Given the description of an element on the screen output the (x, y) to click on. 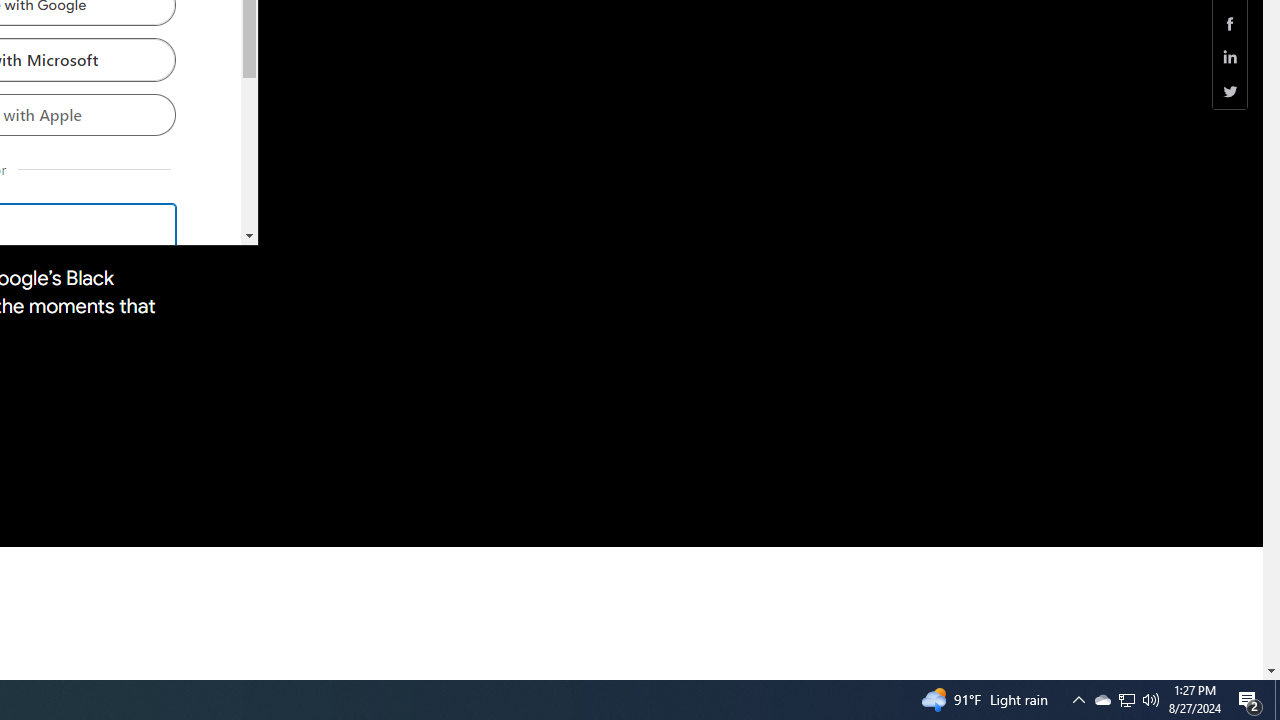
Notification Chevron (1078, 699)
Show desktop (1277, 699)
Q2790: 100% (1151, 699)
User Promoted Notification Area (1102, 699)
Action Center, 2 new notifications (1126, 699)
